Given the description of an element on the screen output the (x, y) to click on. 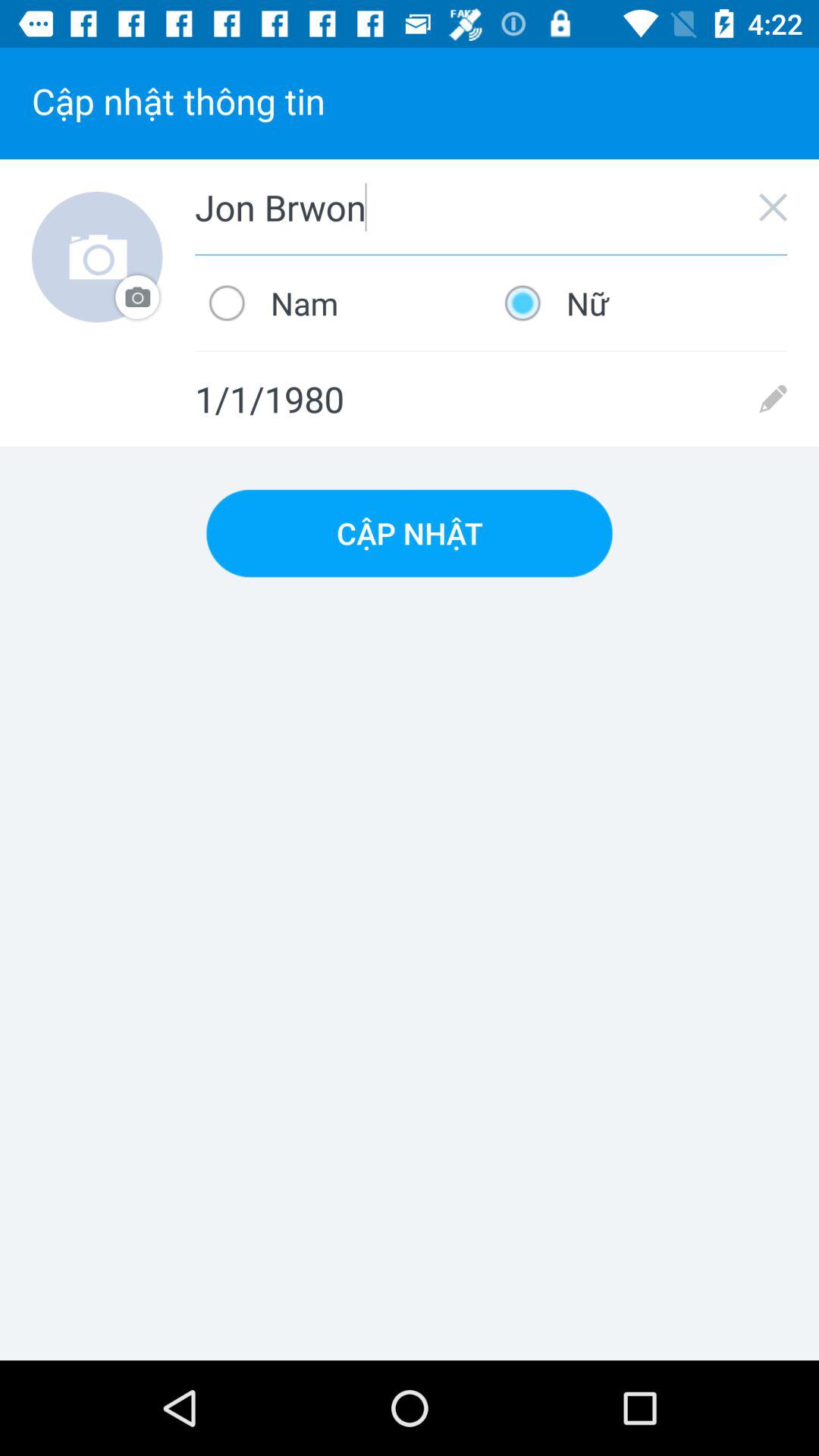
press jon brwon item (491, 207)
